Given the description of an element on the screen output the (x, y) to click on. 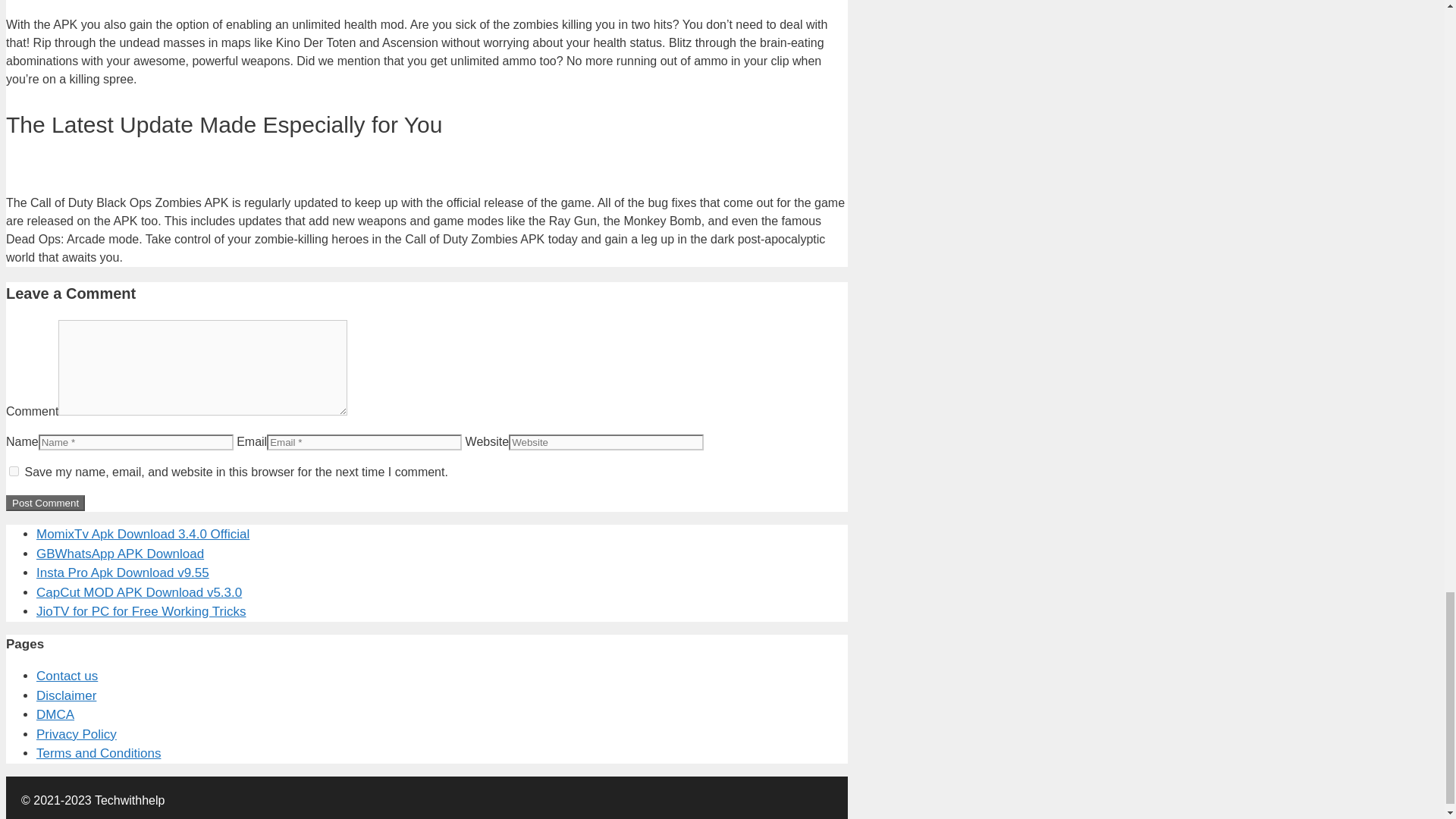
Post Comment (44, 503)
Post Comment (44, 503)
yes (13, 470)
MomixTv Apk Download 3.4.0 Official (142, 534)
